Given the description of an element on the screen output the (x, y) to click on. 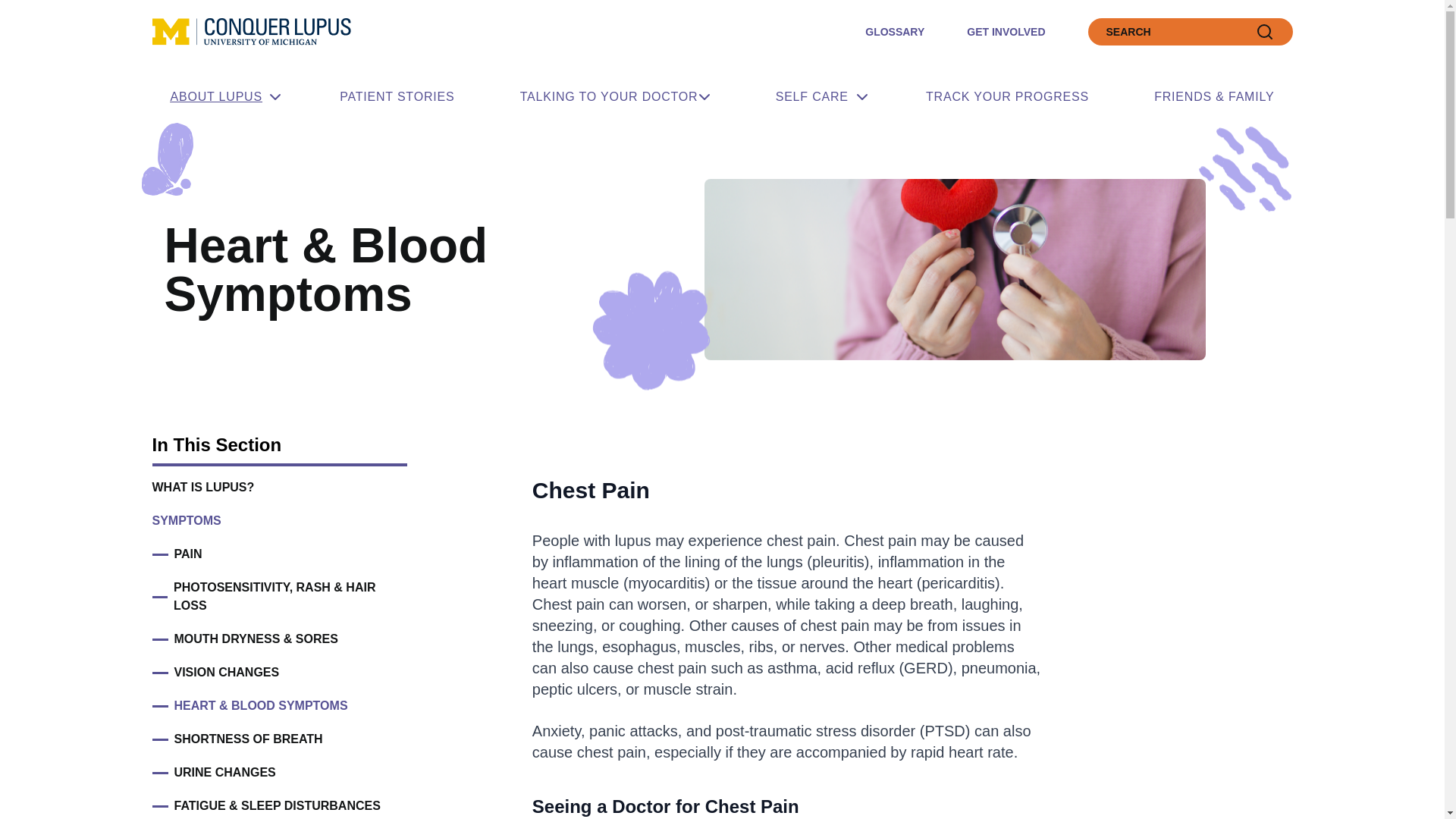
PATIENT STORIES (396, 96)
GLOSSARY (894, 31)
ABOUT LUPUS (221, 96)
TALKING TO YOUR DOCTOR (615, 96)
GET INVOLVED (1005, 31)
SELF CARE (818, 96)
